Given the description of an element on the screen output the (x, y) to click on. 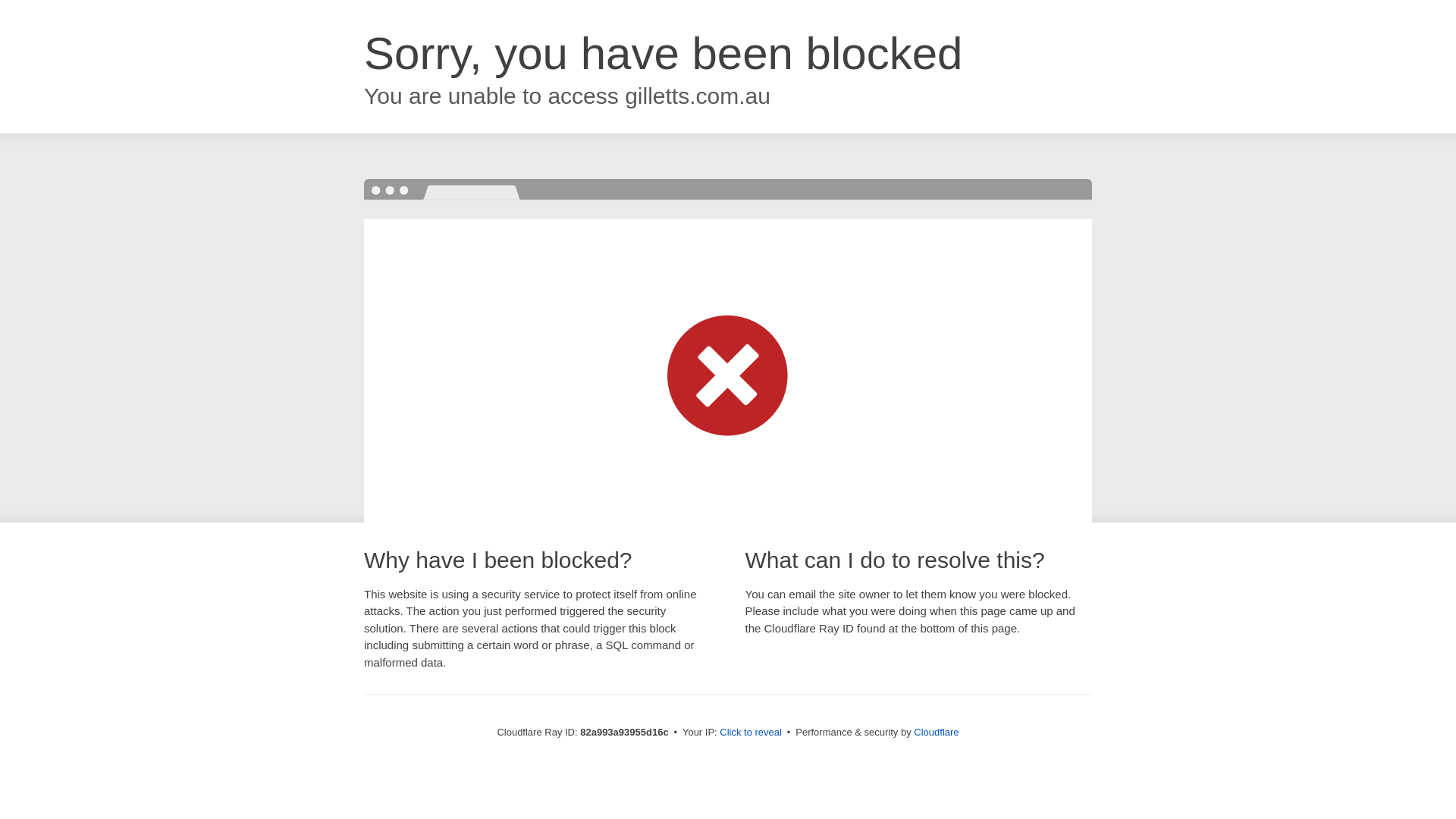
Click to reveal Element type: text (750, 732)
Cloudflare Element type: text (935, 731)
